Given the description of an element on the screen output the (x, y) to click on. 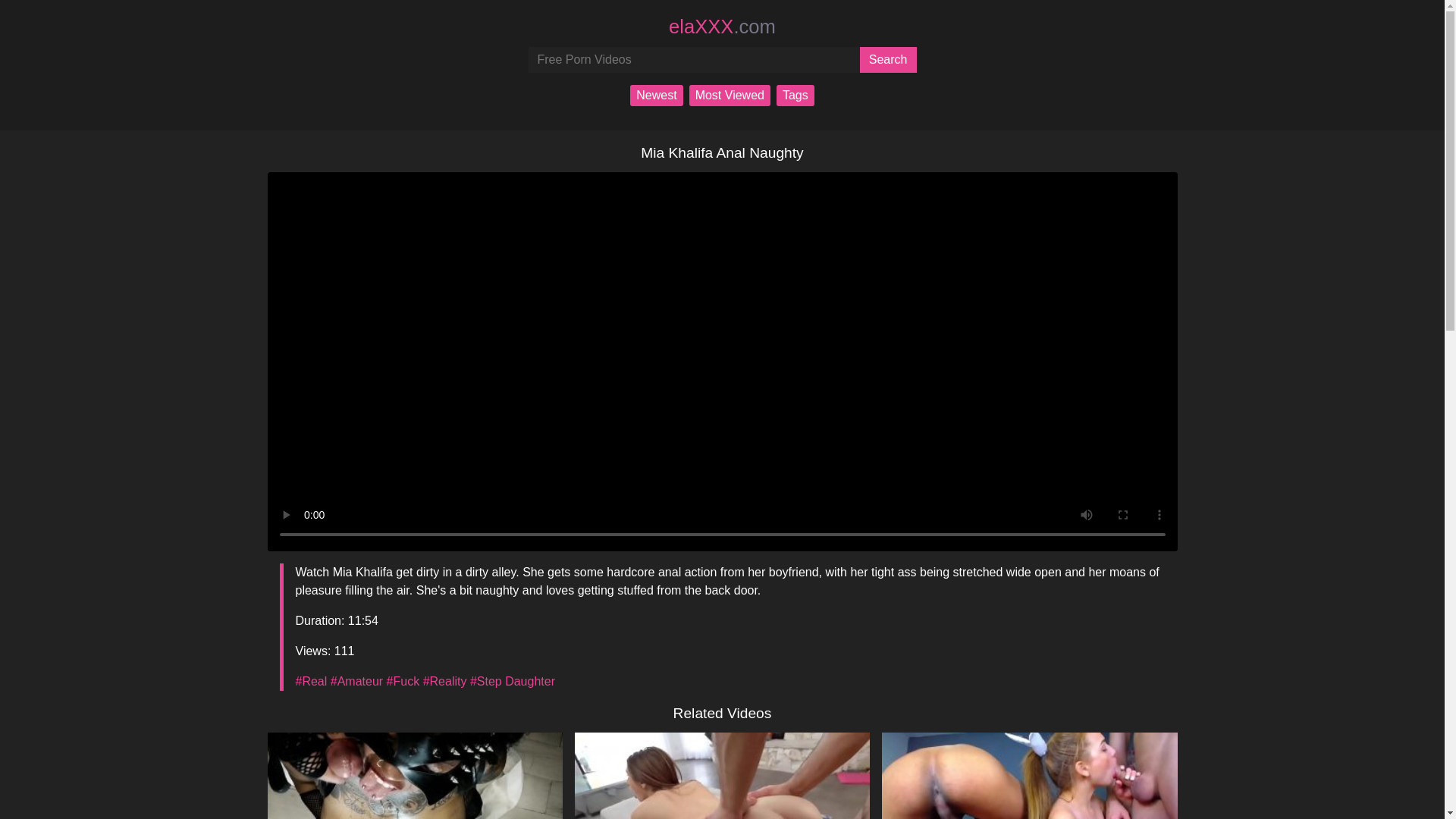
Holed Several Girls Get Fucked Hard In Ass Compilation (722, 812)
Most Viewed (1029, 812)
Search (729, 95)
Most Viewed (888, 59)
Amateur (729, 95)
Tags (356, 680)
Fuck (794, 95)
Double Penetration Anal Set (403, 680)
Reality (1029, 812)
